Given the description of an element on the screen output the (x, y) to click on. 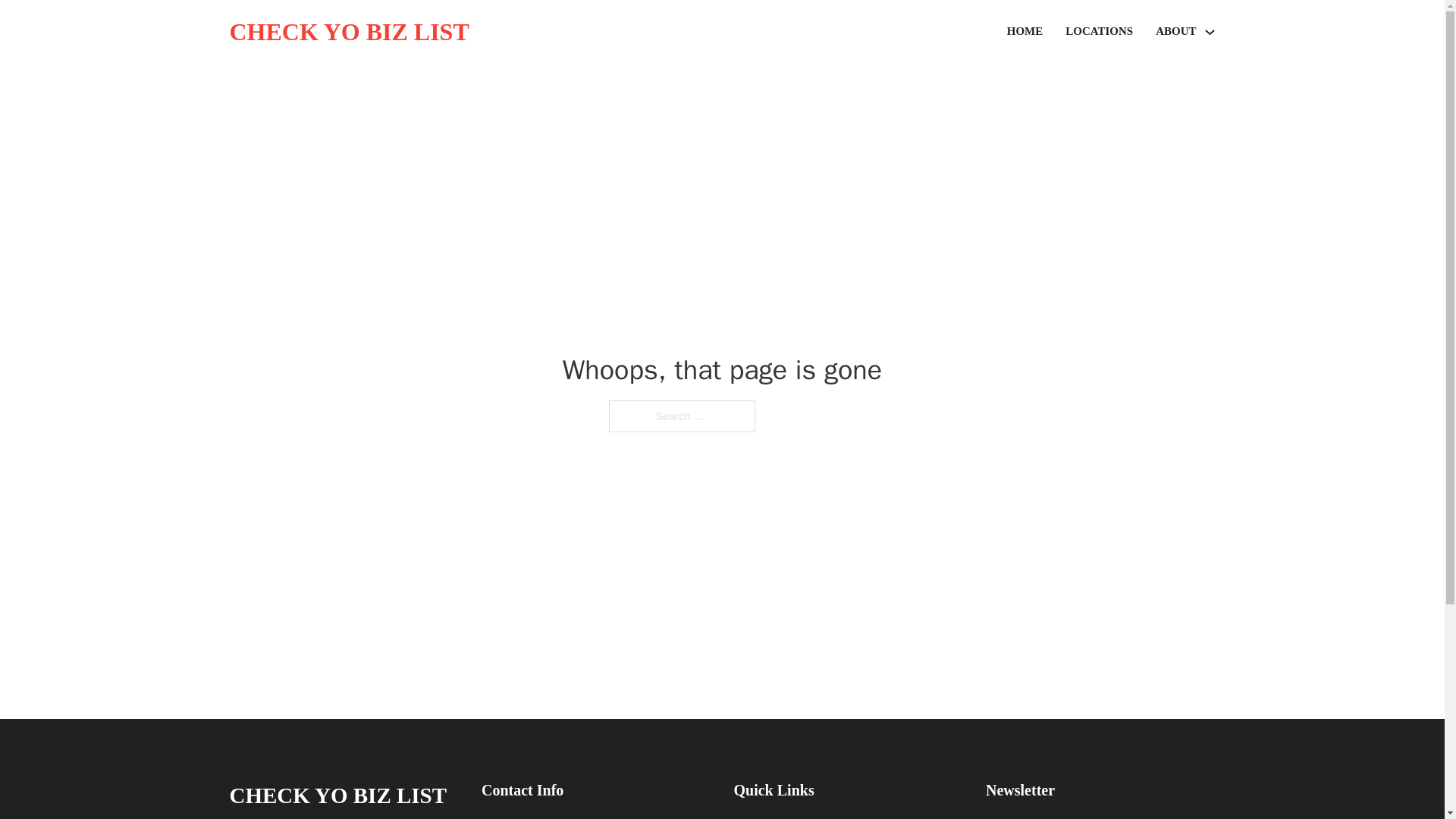
CHECK YO BIZ LIST (337, 795)
ABOUT (1175, 31)
HOME (1025, 31)
LOCATIONS (1098, 31)
CHECK YO BIZ LIST (348, 31)
